Given the description of an element on the screen output the (x, y) to click on. 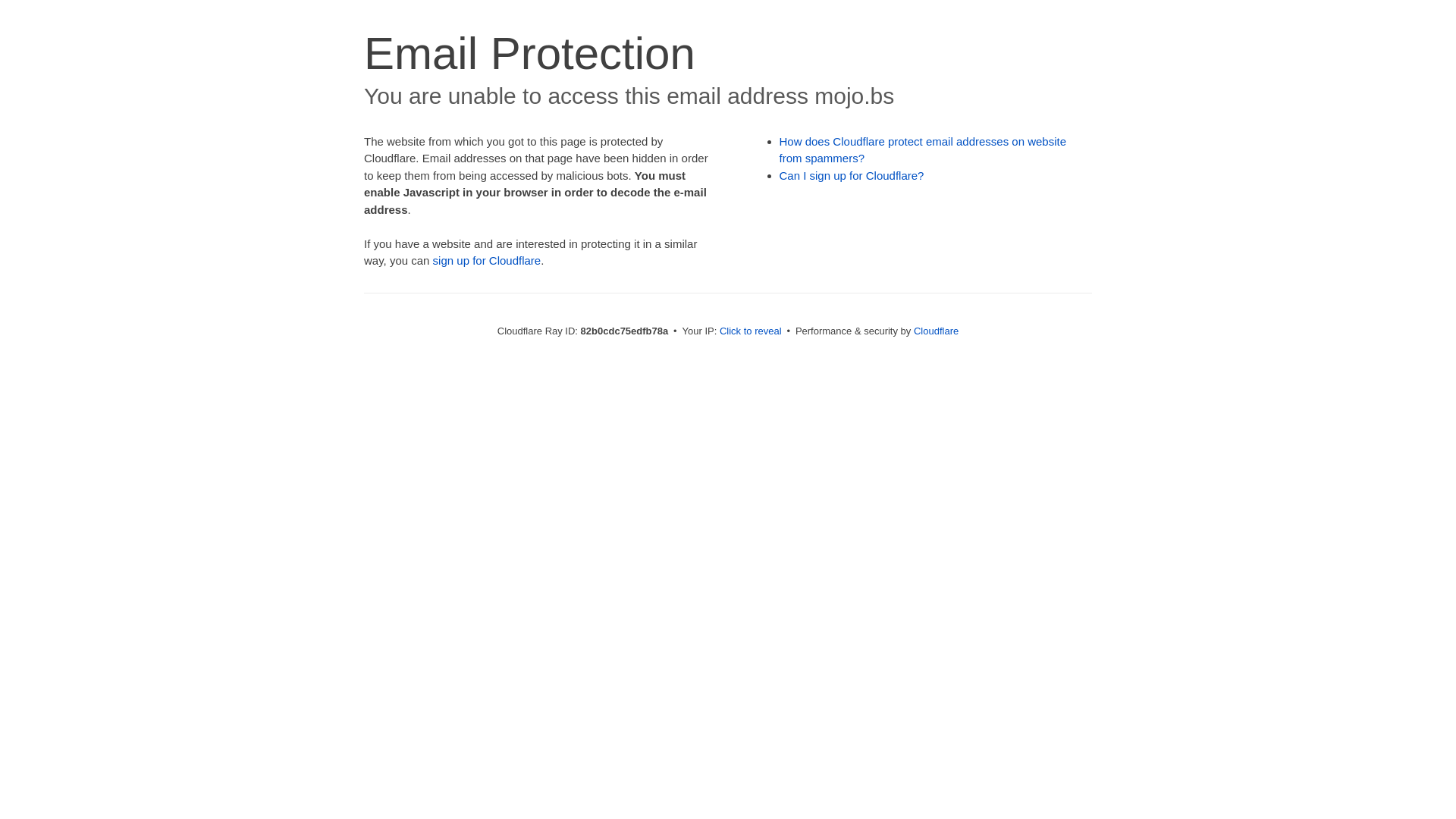
sign up for Cloudflare Element type: text (487, 260)
Can I sign up for Cloudflare? Element type: text (851, 175)
Cloudflare Element type: text (935, 330)
Click to reveal Element type: text (750, 330)
